Given the description of an element on the screen output the (x, y) to click on. 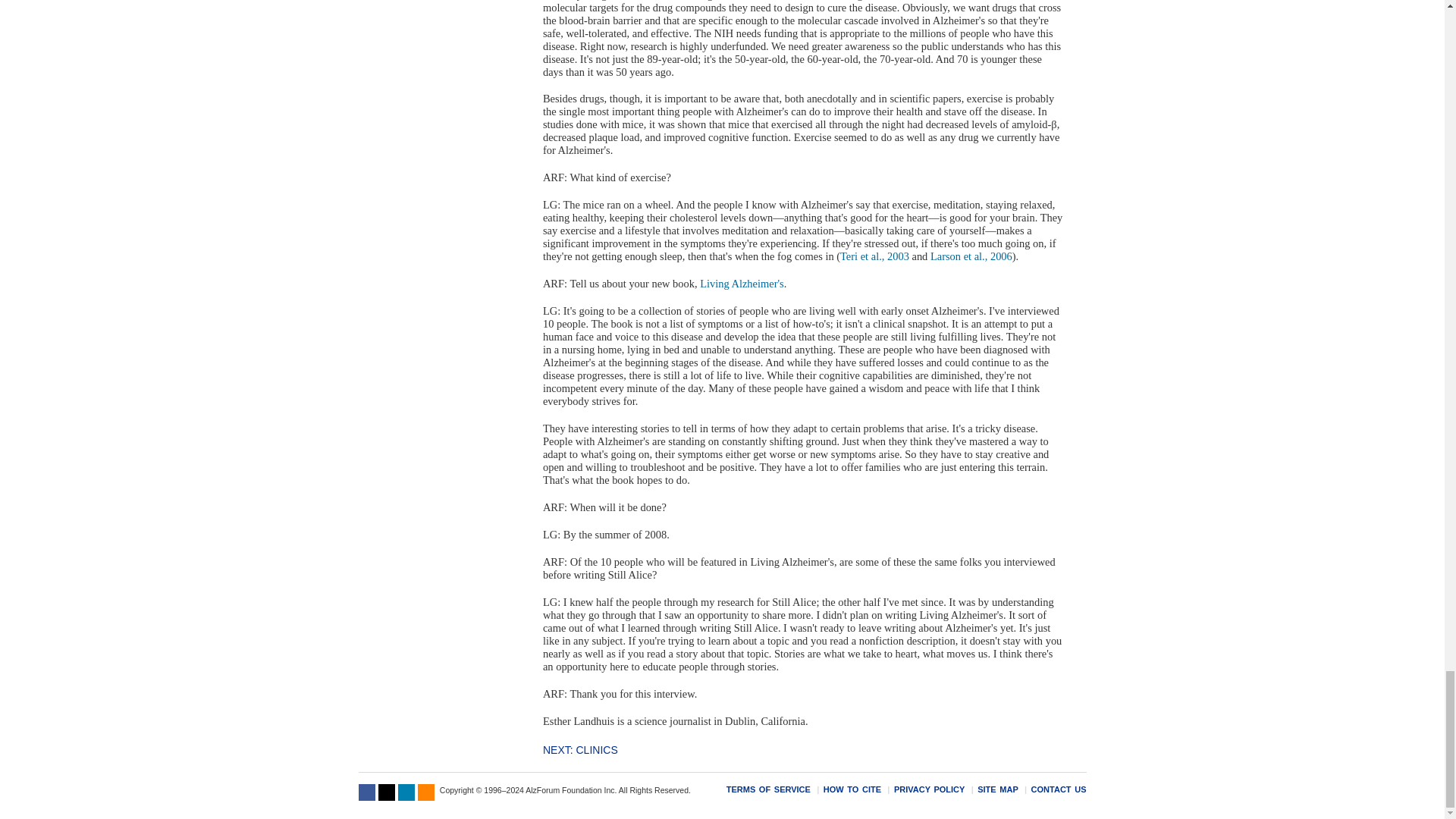
NEXT: CLINICS (580, 749)
Living Alzheimer's (741, 283)
Teri et al., 2003 (874, 256)
Go to next page (580, 749)
Larson et al., 2006 (970, 256)
